Given the description of an element on the screen output the (x, y) to click on. 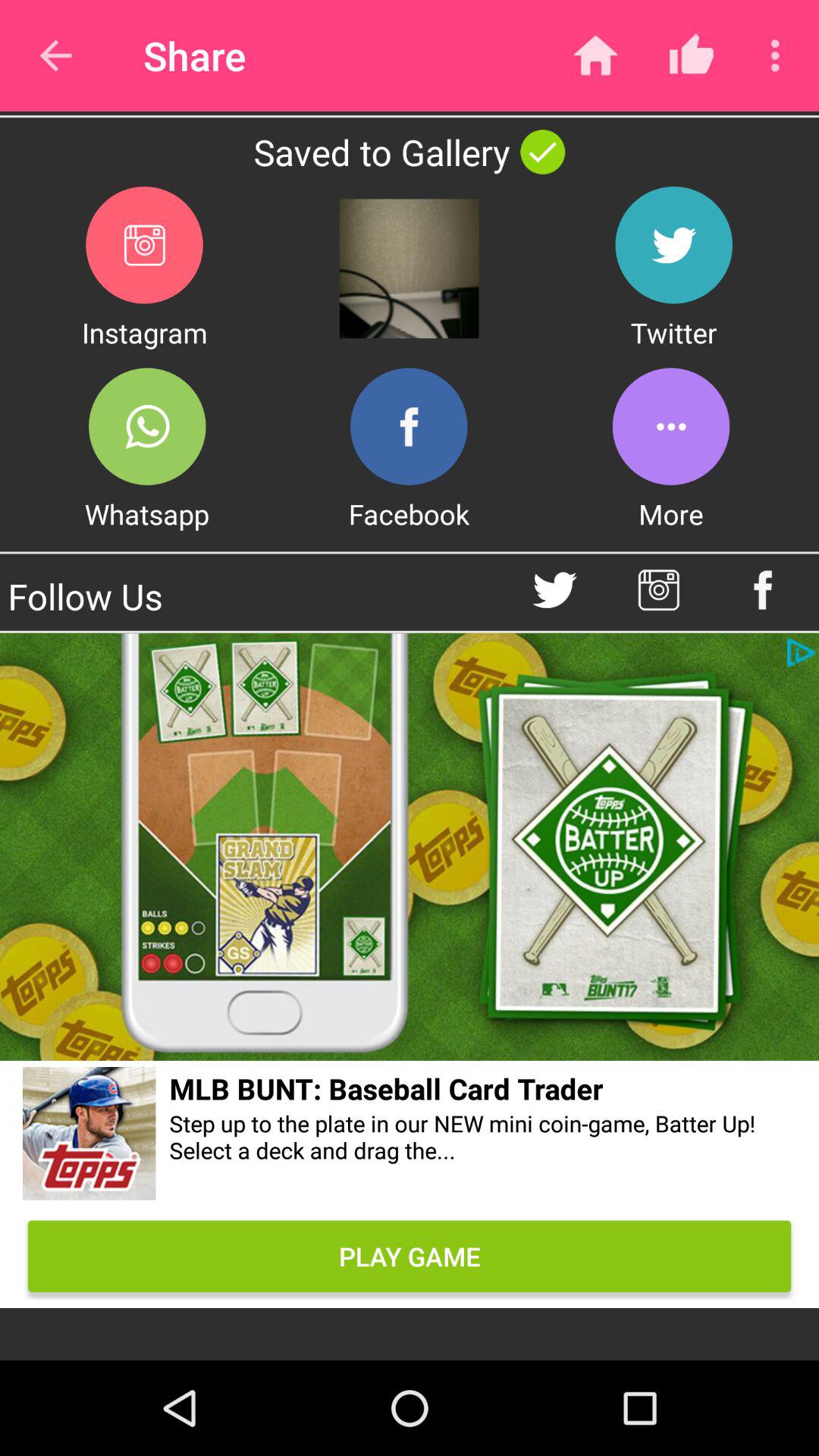
go to instagram (658, 589)
